Given the description of an element on the screen output the (x, y) to click on. 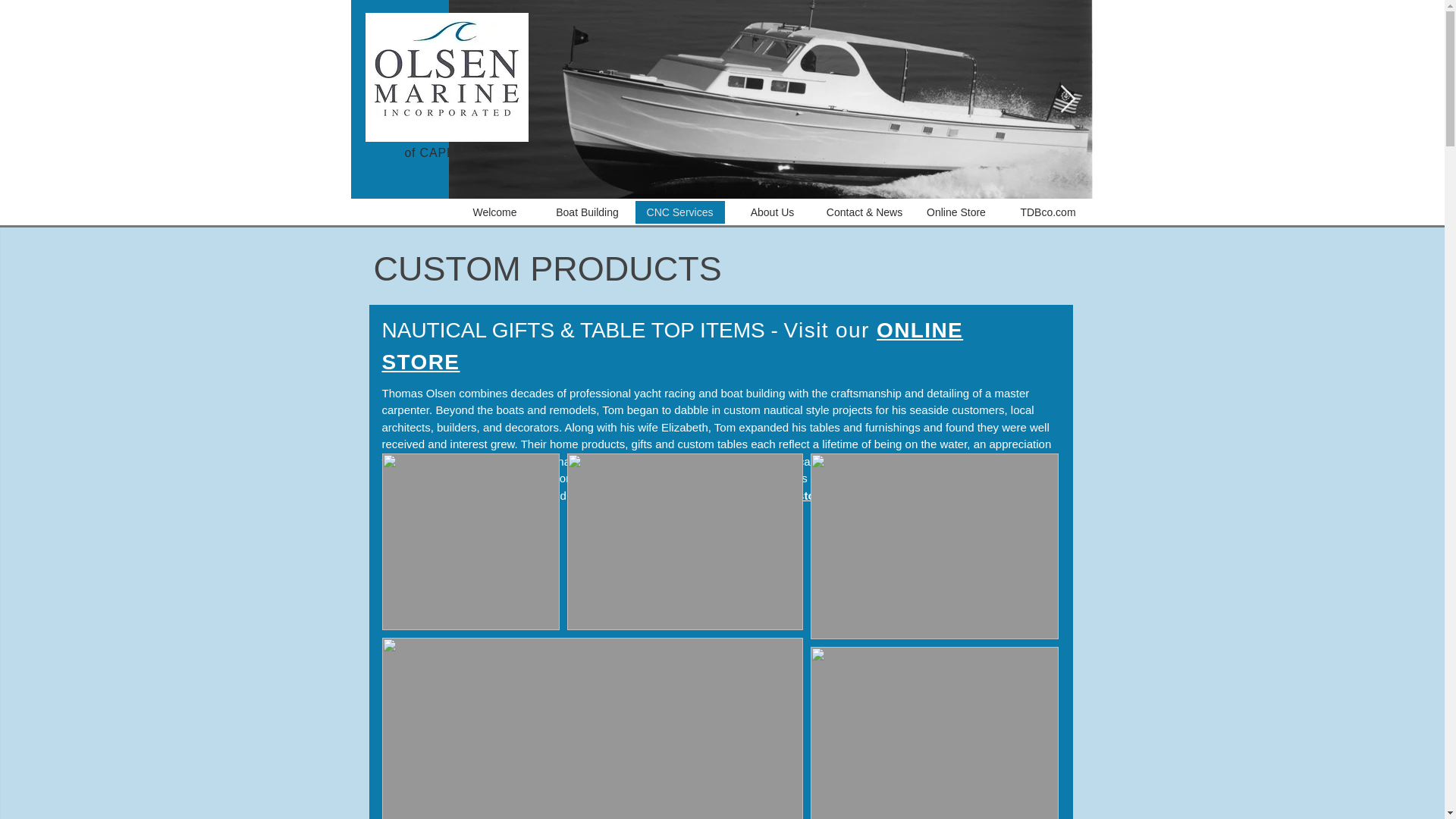
email us with your custom order! (771, 494)
TDBco.com (1048, 211)
CNC Services (679, 211)
Boat Building (587, 211)
Online Store (955, 211)
About Us (772, 211)
join our mailing list (472, 494)
ONLINE STORE (672, 345)
of CAPE COD (445, 152)
Welcome (494, 211)
